Given the description of an element on the screen output the (x, y) to click on. 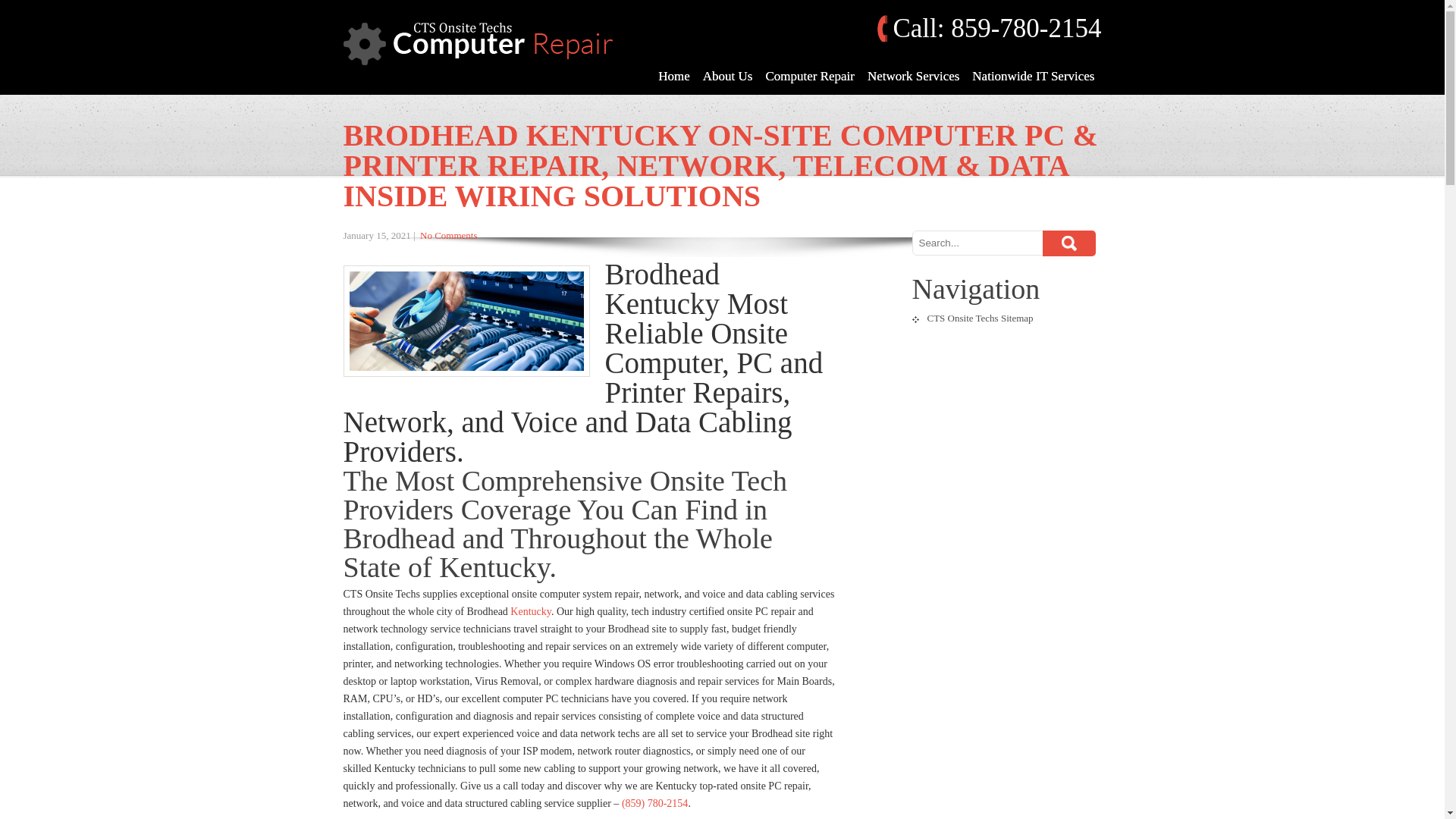
Search (1068, 243)
Search (1068, 243)
Network Services (913, 76)
Home (673, 76)
CTS Onsite Techs Sitemap (971, 317)
About Us (727, 76)
Computer Repair (809, 76)
No Comments (448, 235)
Search (1068, 243)
Kentucky (531, 611)
Nationwide IT Services (1033, 76)
